Given the description of an element on the screen output the (x, y) to click on. 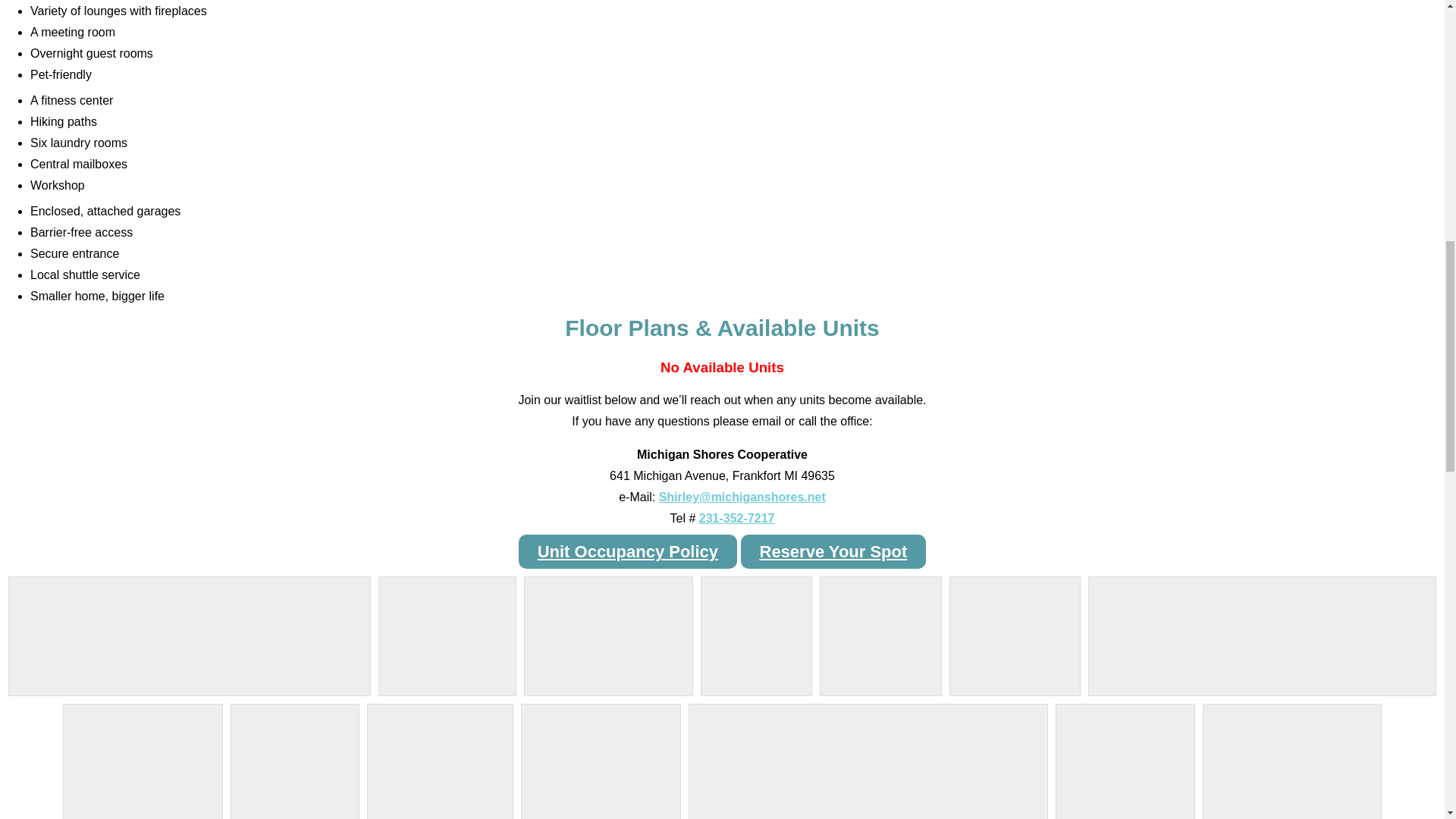
231-352-7217 (736, 517)
Reserve Your Spot (833, 551)
Unit Occupancy Policy (627, 551)
